Given the description of an element on the screen output the (x, y) to click on. 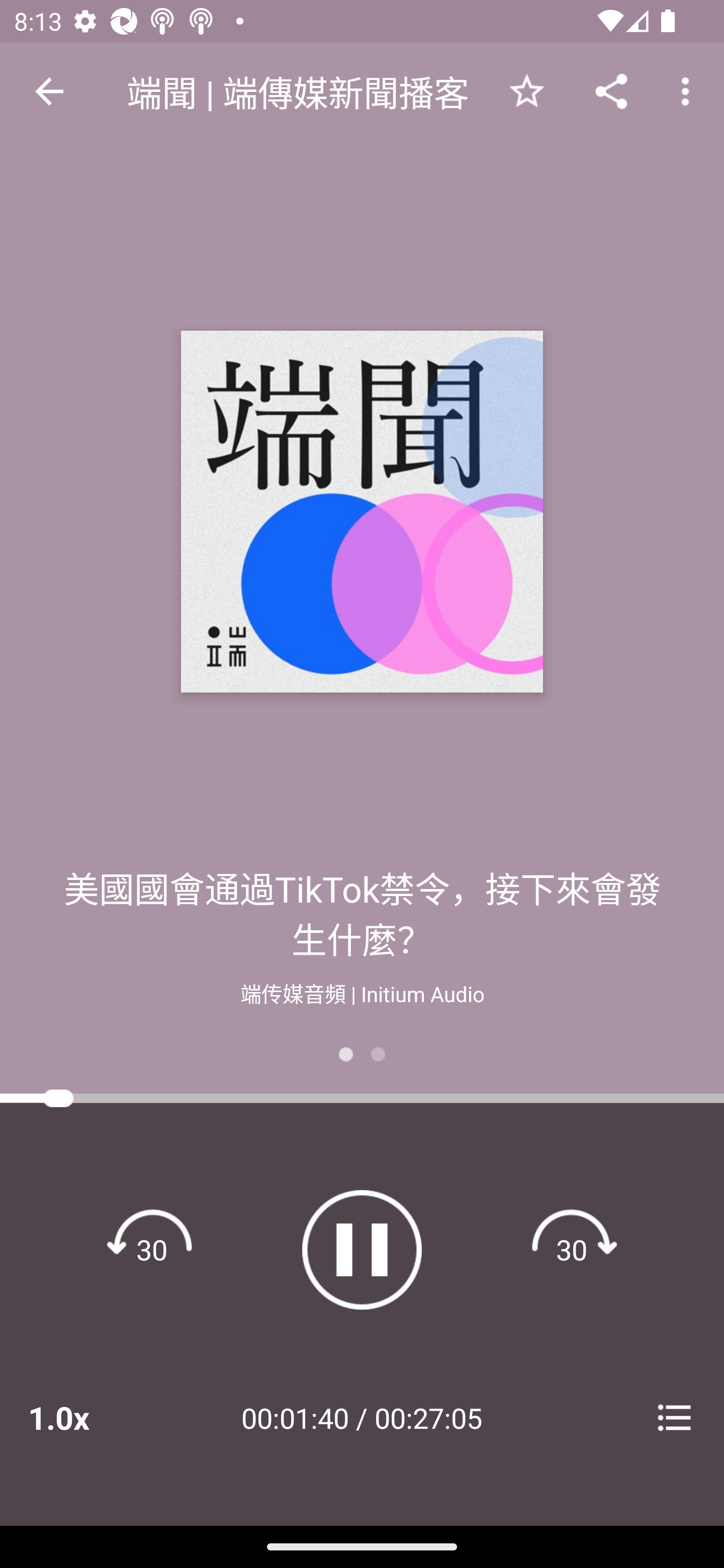
Navigate up (49, 91)
Add to Favorites (526, 90)
Share... (611, 90)
More options (688, 90)
端传媒音頻 | Initium Audio (361, 992)
Pause (361, 1249)
Rewind (151, 1249)
Fast forward (571, 1249)
1.0x Playback Speeds (84, 1417)
00:27:05 (428, 1417)
